Given the description of an element on the screen output the (x, y) to click on. 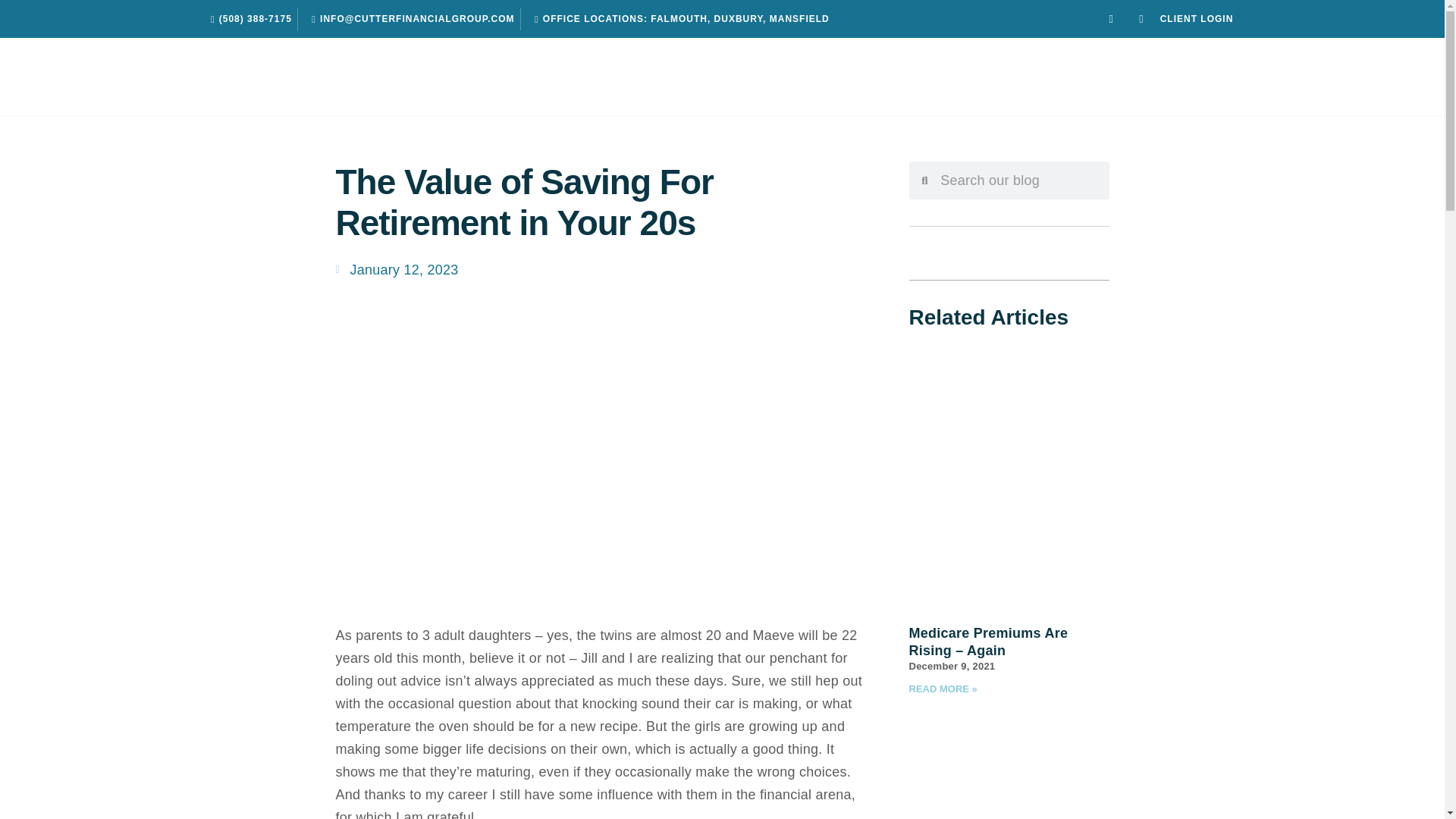
About Us (236, 77)
OFFICE LOCATIONS: FALMOUTH, DUXBURY, MANSFIELD (678, 18)
CLIENT LOGIN (1196, 18)
Services (386, 77)
Contact Us (1201, 77)
Resources (1008, 77)
Blog (840, 77)
Client Testimonials (552, 77)
